Given the description of an element on the screen output the (x, y) to click on. 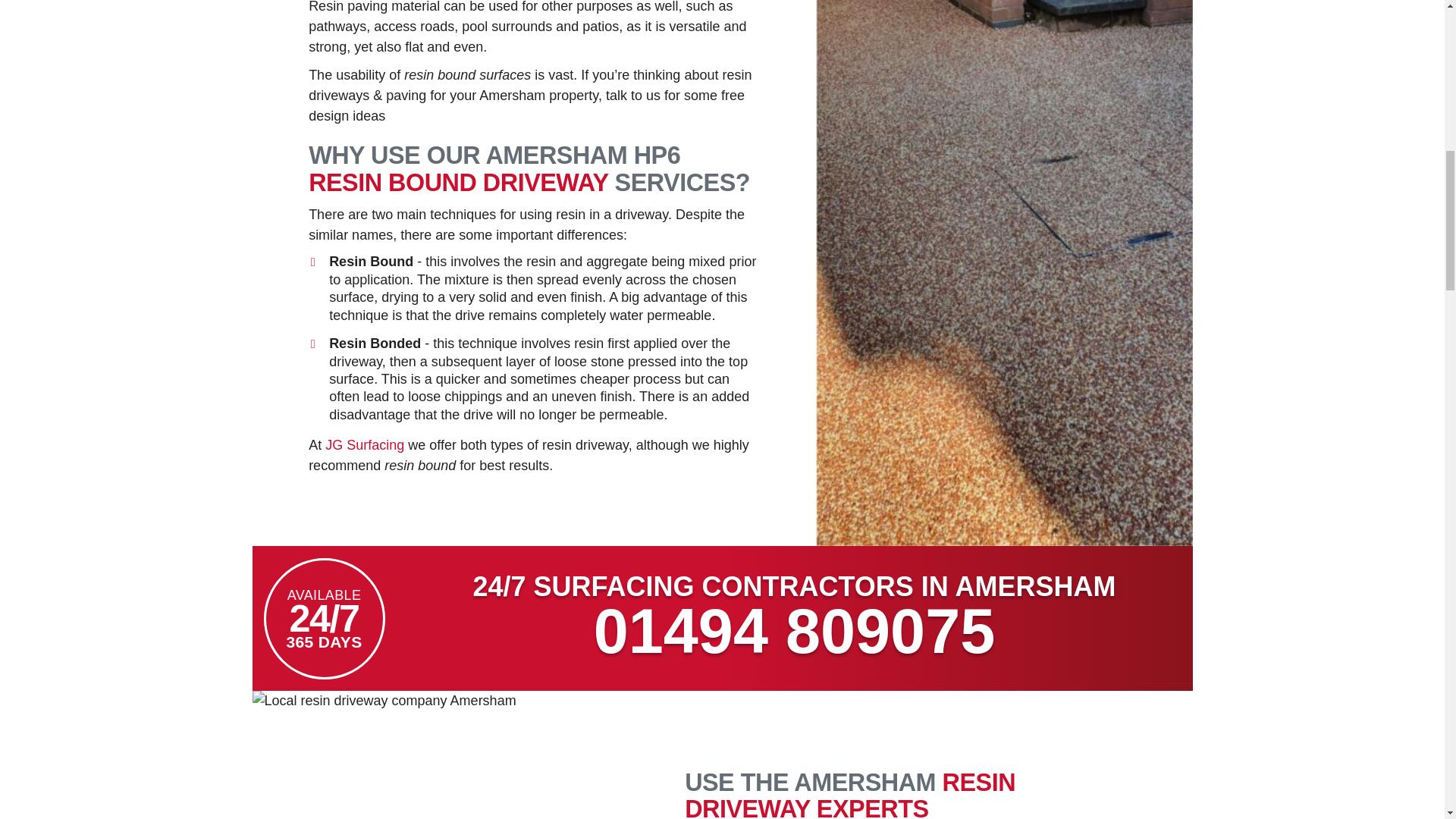
JG Surfacing (364, 444)
